Given the description of an element on the screen output the (x, y) to click on. 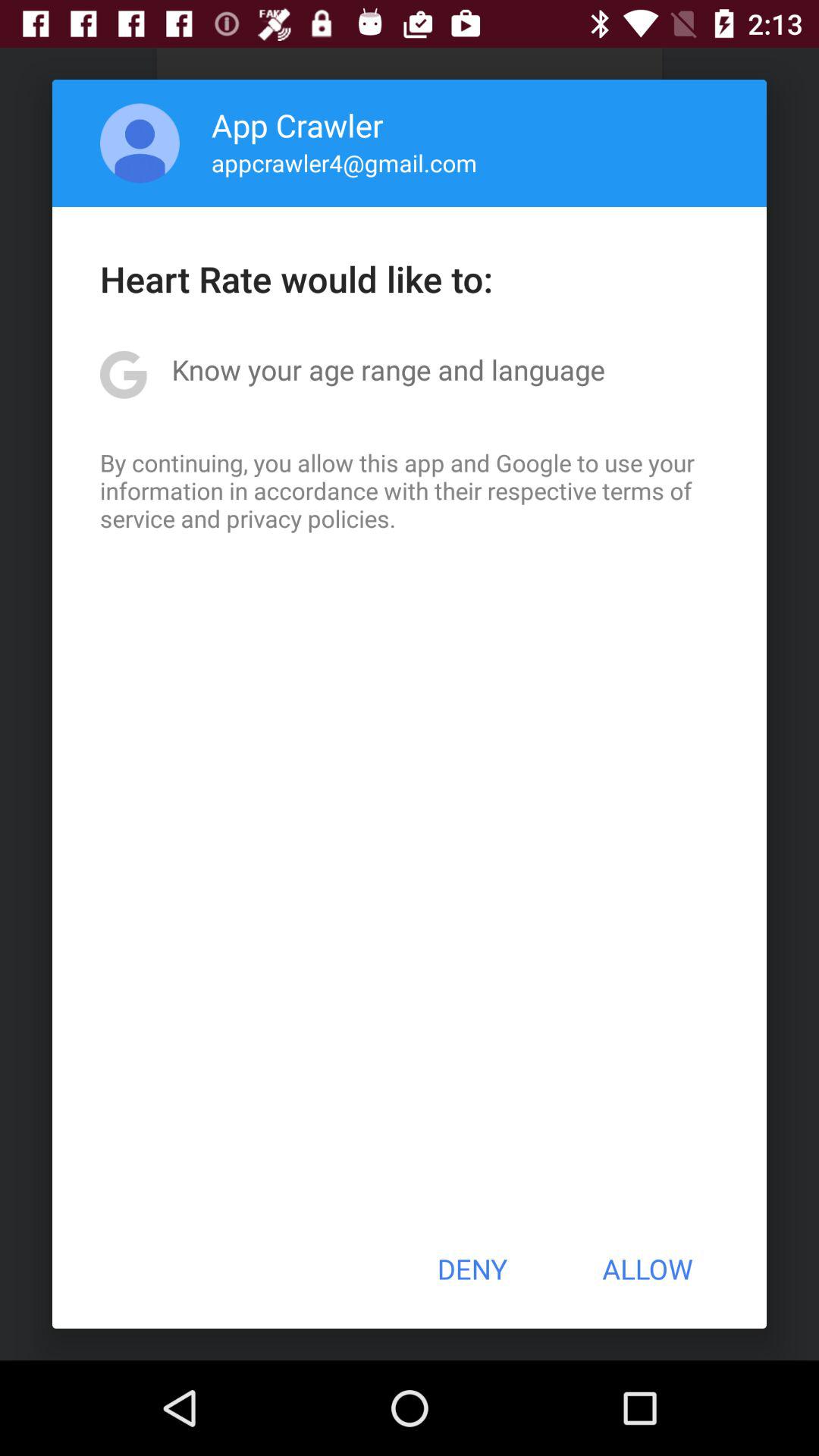
jump until know your age icon (388, 369)
